Given the description of an element on the screen output the (x, y) to click on. 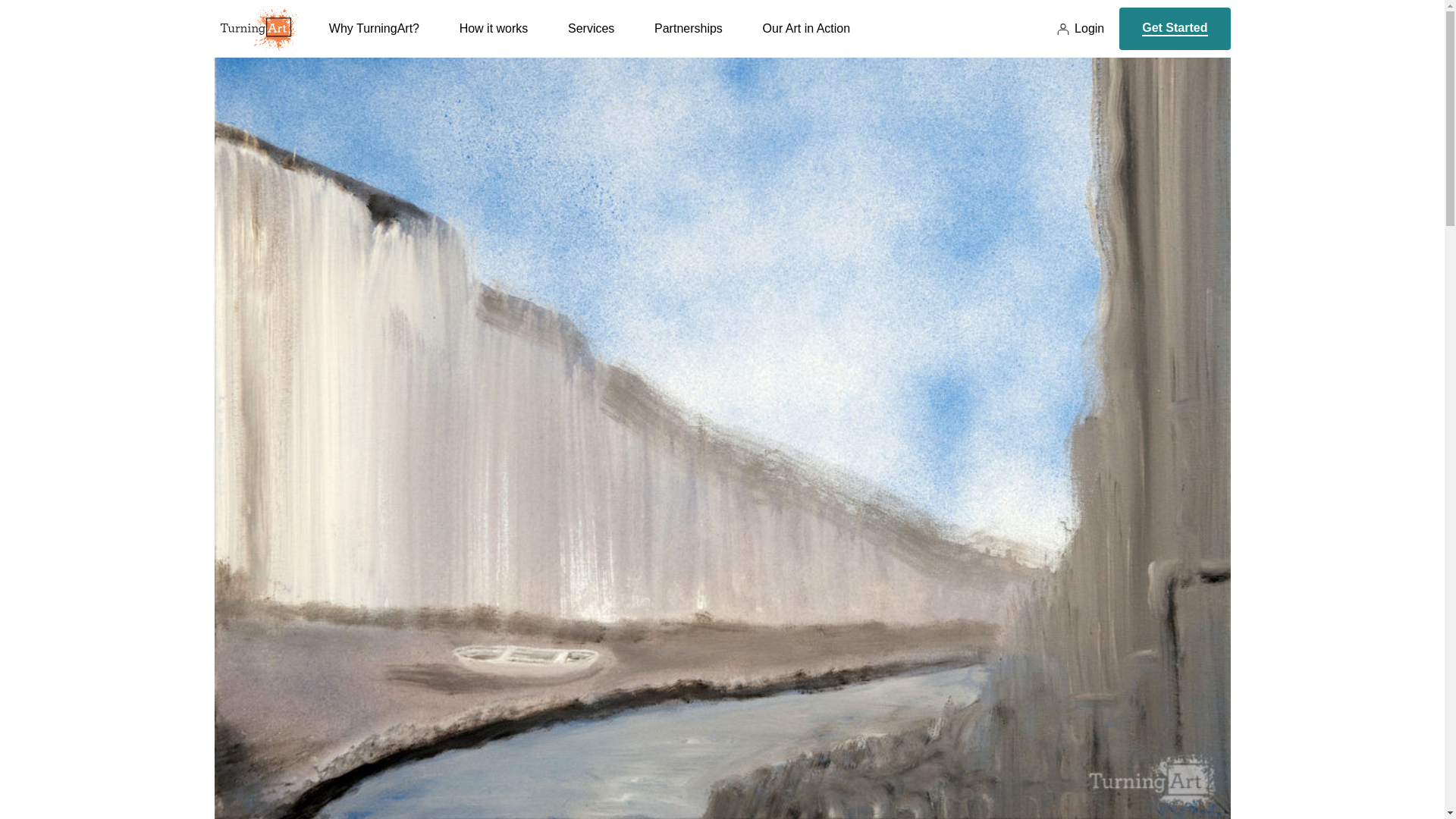
Our Art in Action (806, 38)
How it works (494, 38)
Login (1080, 28)
Why TurningArt? (374, 38)
Partnerships (687, 38)
Get Started (1174, 28)
Services (590, 38)
